Given the description of an element on the screen output the (x, y) to click on. 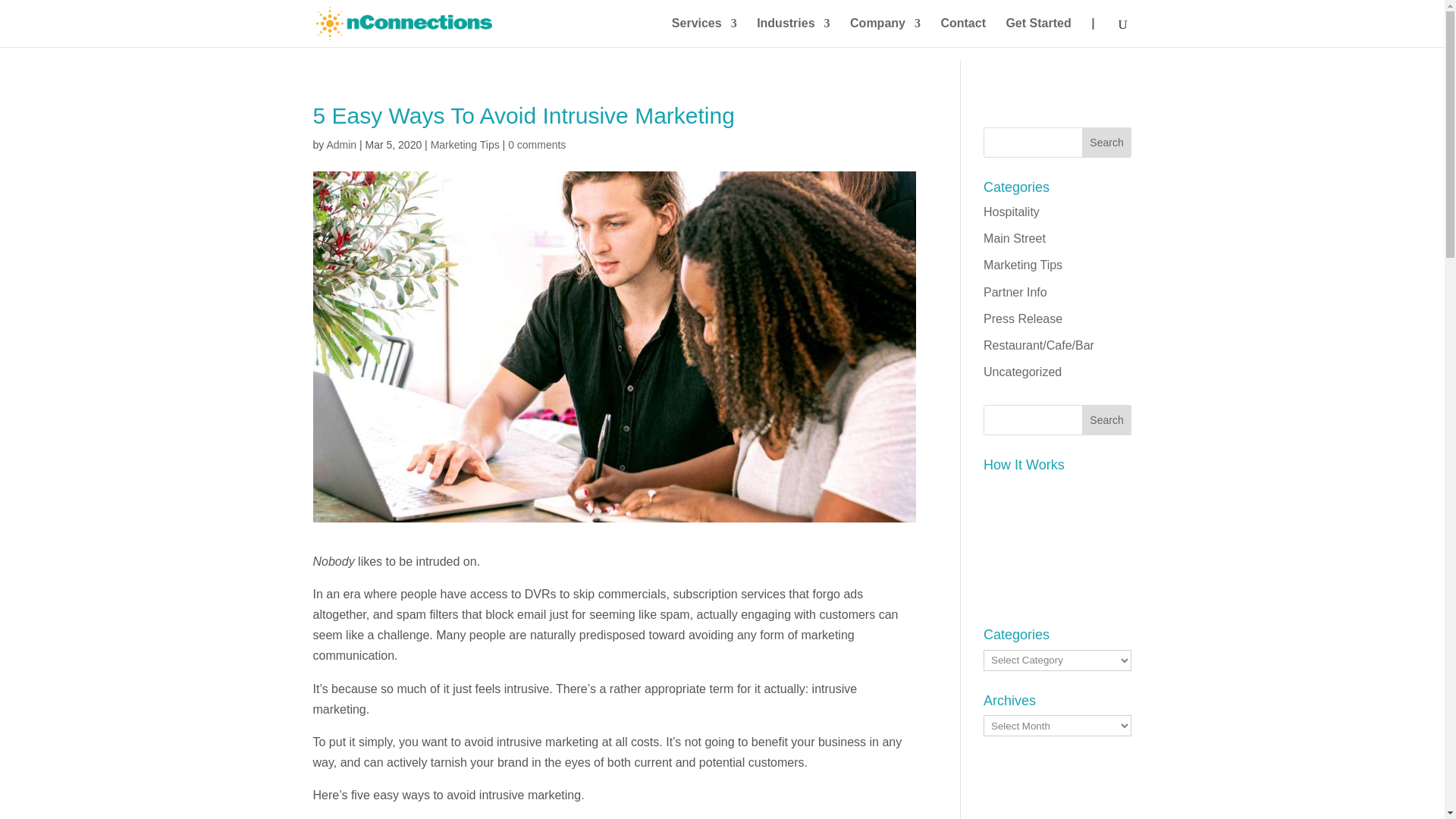
Marketing Tips (464, 144)
Industries (793, 32)
Contact (962, 32)
Search (1106, 142)
Company (885, 32)
Posts by Admin (341, 144)
0 comments (537, 144)
Search (1106, 419)
Services (703, 32)
Get Started (1038, 32)
